Given the description of an element on the screen output the (x, y) to click on. 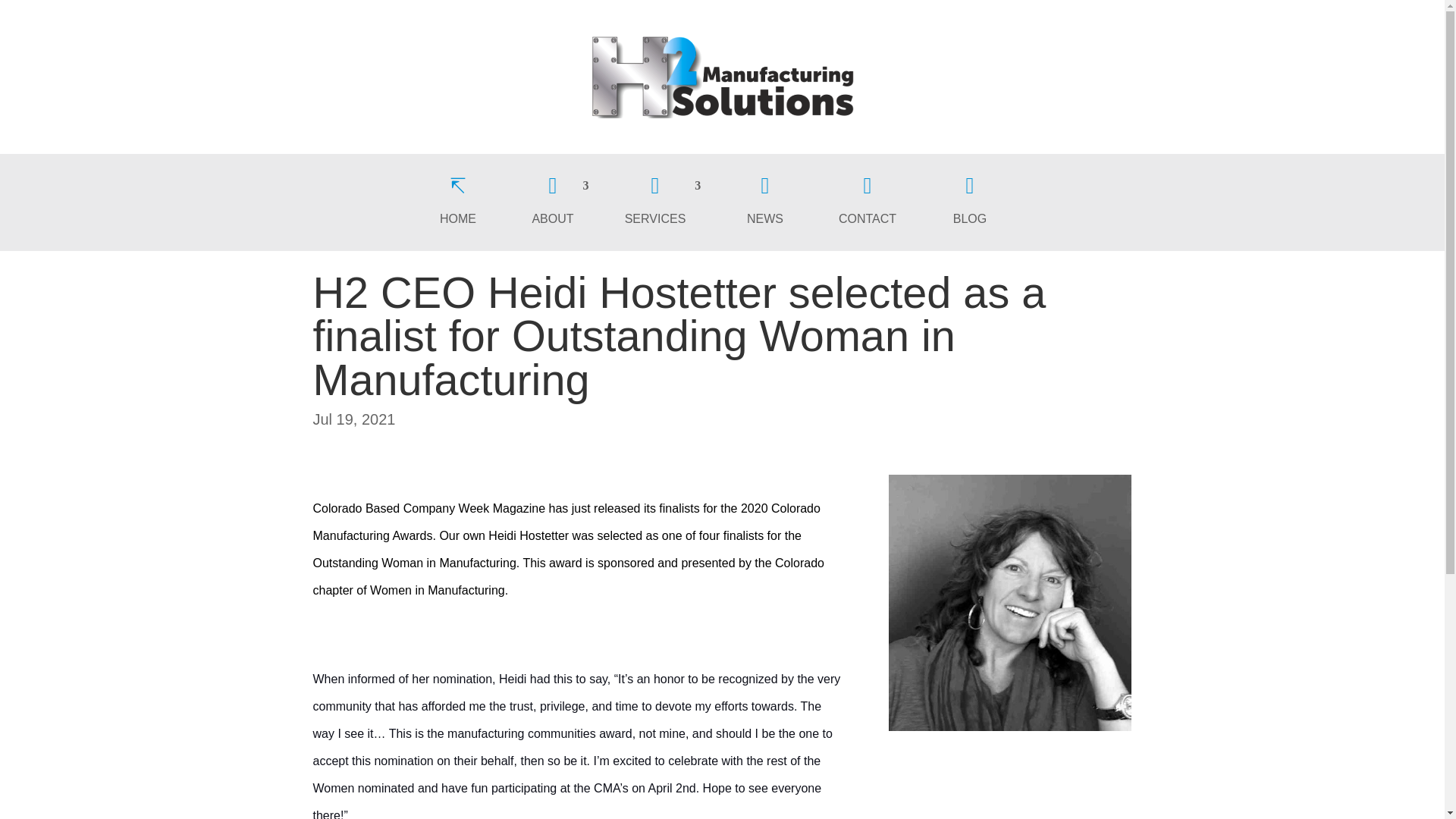
SERVICES (662, 205)
ABOUT (559, 205)
CONTACT (867, 205)
Heidi 3 (1009, 603)
